Given the description of an element on the screen output the (x, y) to click on. 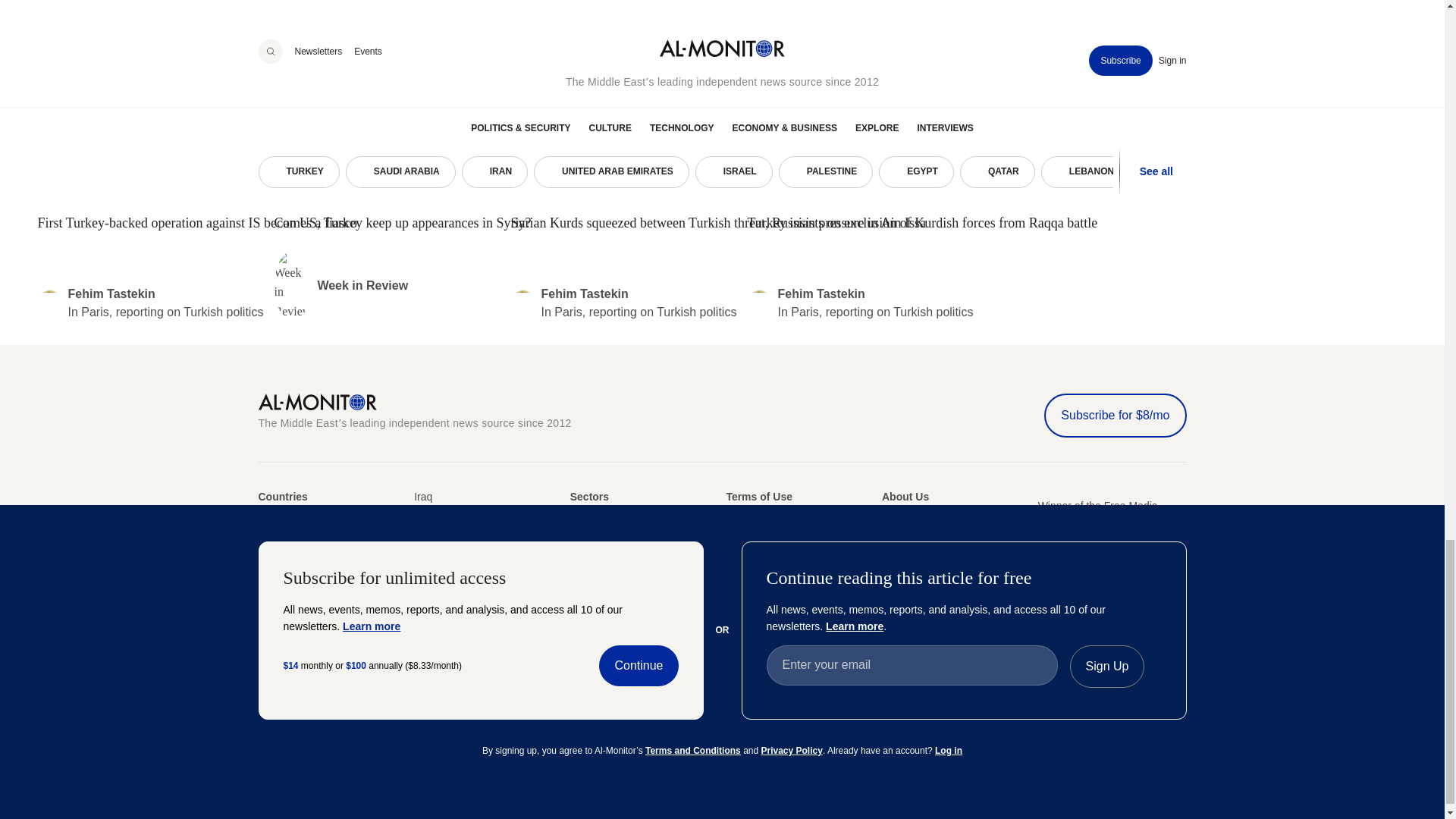
United Arab Amirates (268, 573)
